Given the description of an element on the screen output the (x, y) to click on. 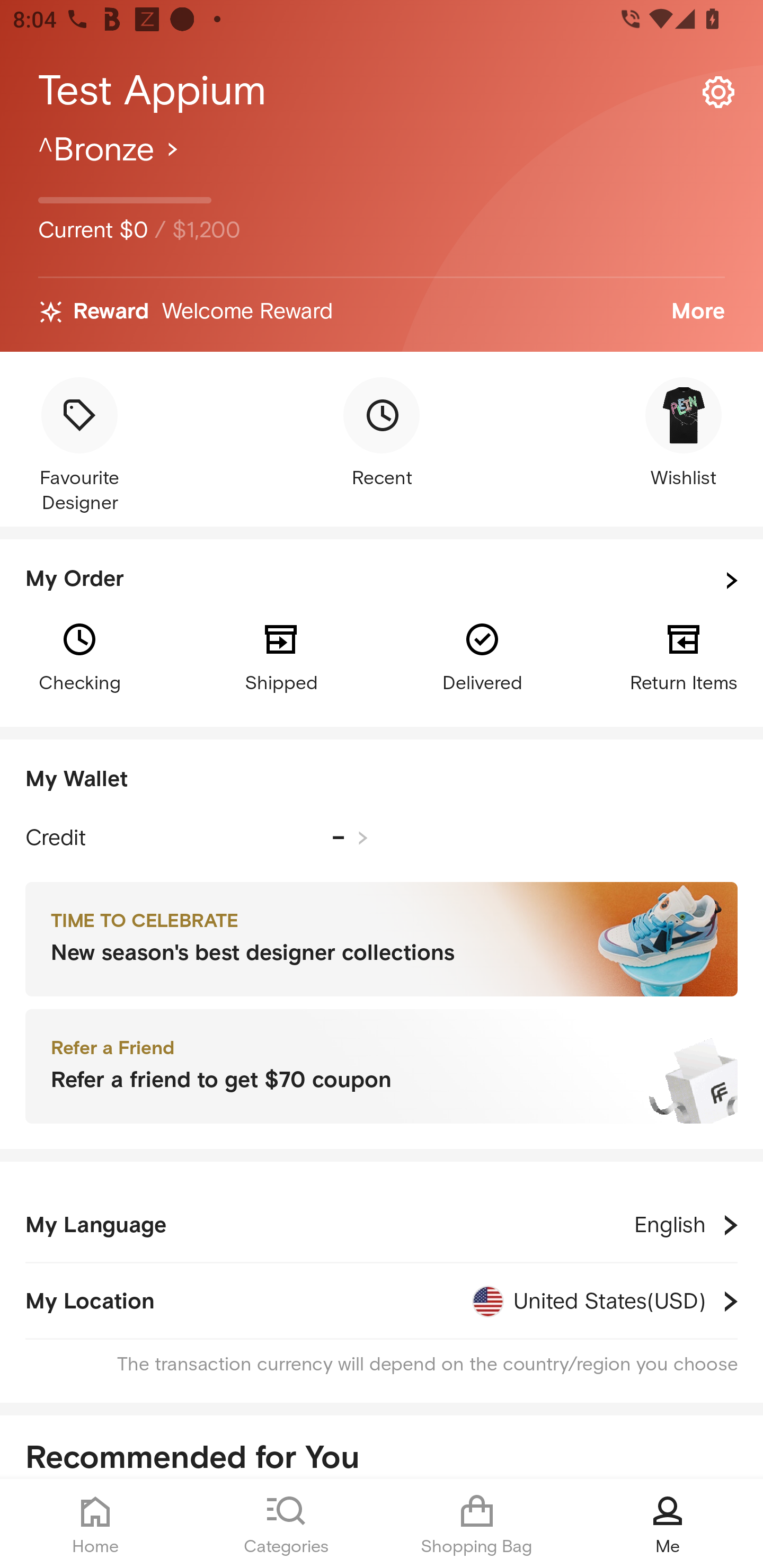
Test Appium (381, 91)
Current $0 / $1,200 Reward Welcome Reward More (381, 240)
Reward Welcome Reward More (381, 311)
Favourite Designer (79, 446)
Recent (381, 433)
Wishlist (683, 433)
My Order (381, 580)
Checking (79, 656)
Shipped (280, 656)
Delivered (482, 656)
Return Items (683, 656)
My Wallet (381, 779)
Credit - (196, 837)
Refer a Friend Refer a friend to get $70 coupon (381, 1066)
My Language English (381, 1224)
My Location United States(USD) (381, 1301)
Home (95, 1523)
Categories (285, 1523)
Shopping Bag (476, 1523)
